Given the description of an element on the screen output the (x, y) to click on. 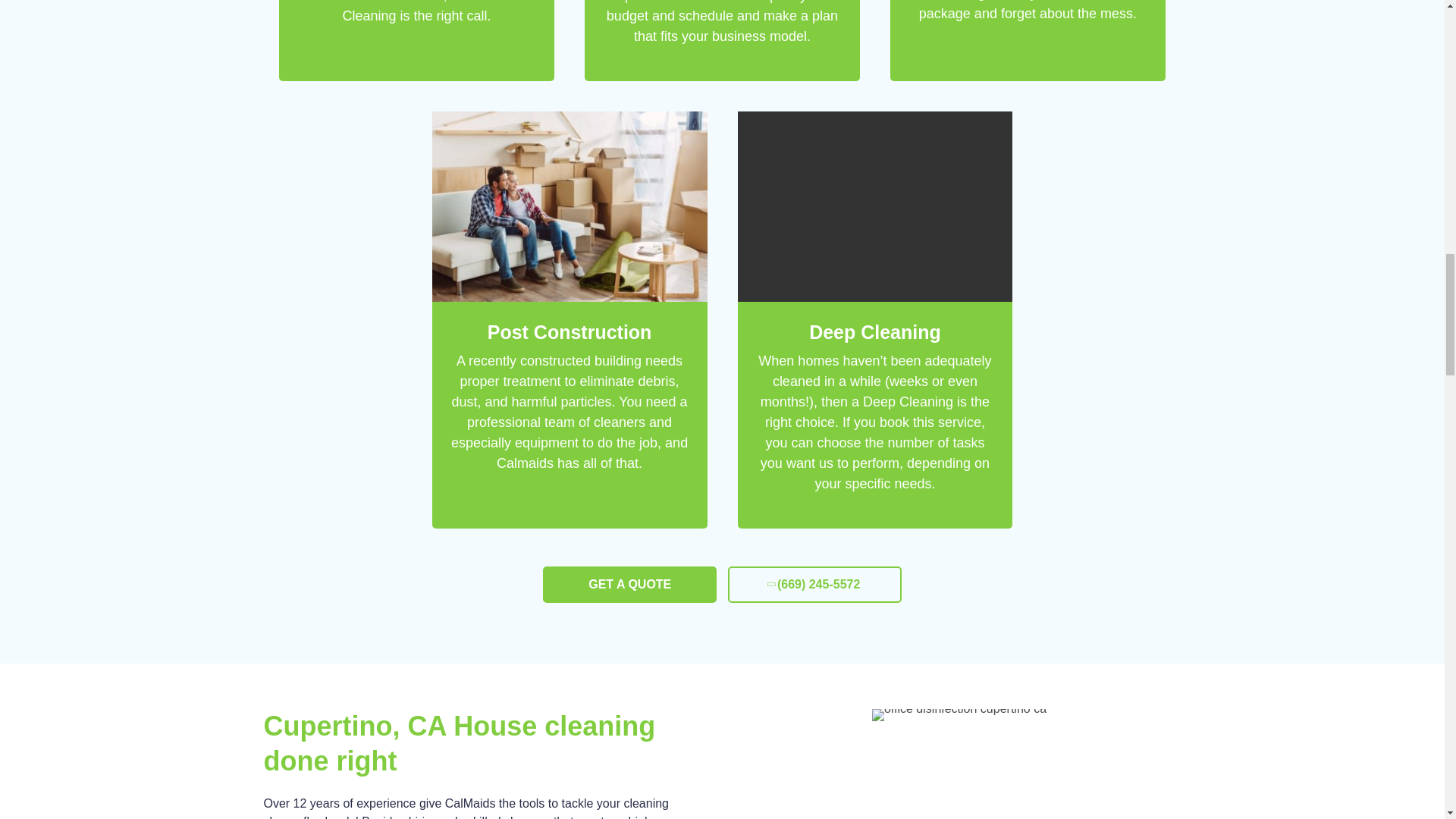
Post Construction (569, 332)
Deep Cleaning (874, 332)
GET A QUOTE (629, 584)
